Given the description of an element on the screen output the (x, y) to click on. 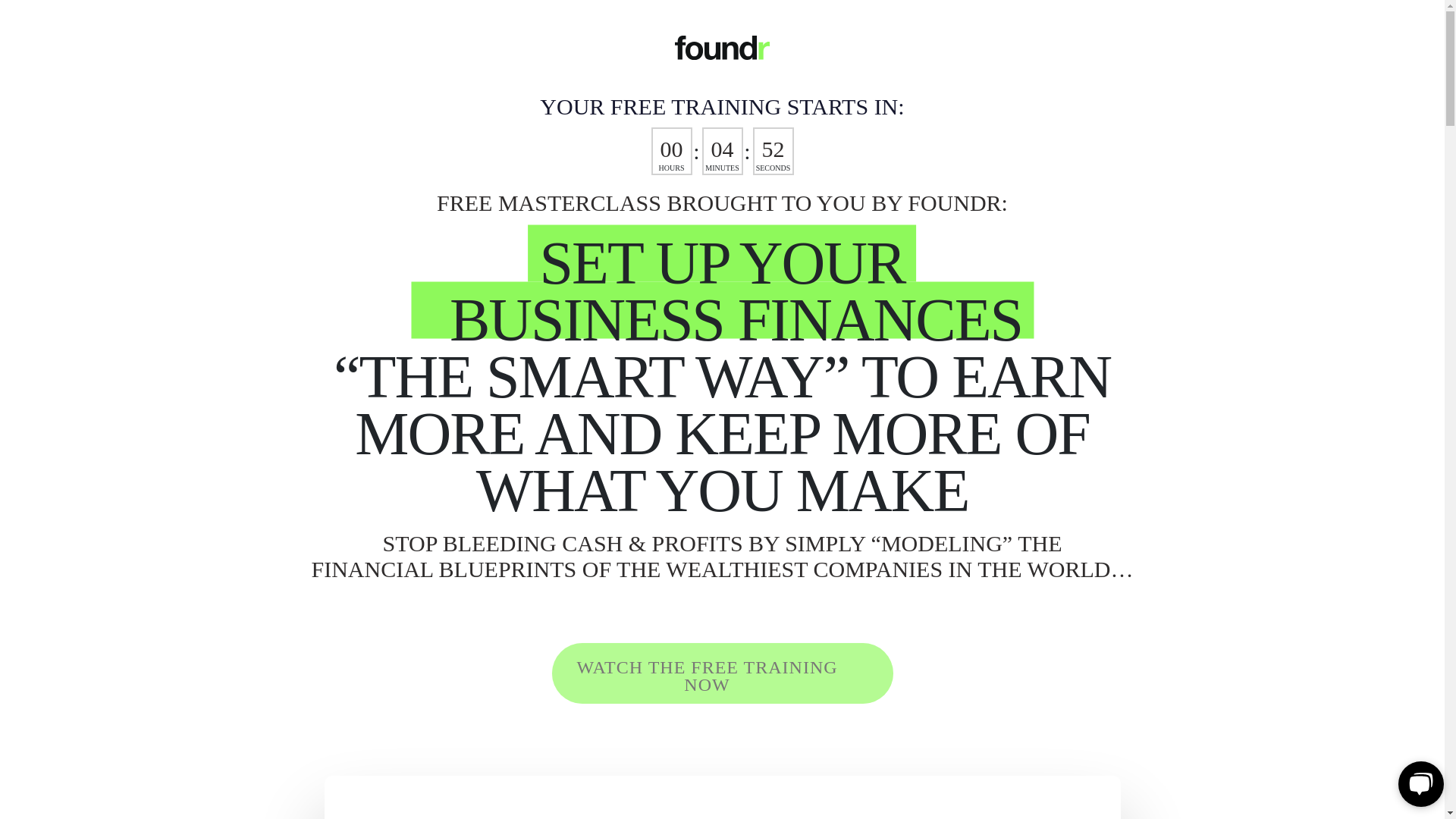
WATCH THE FREE TRAINING NOW (722, 672)
Chat Widget (1418, 782)
